Given the description of an element on the screen output the (x, y) to click on. 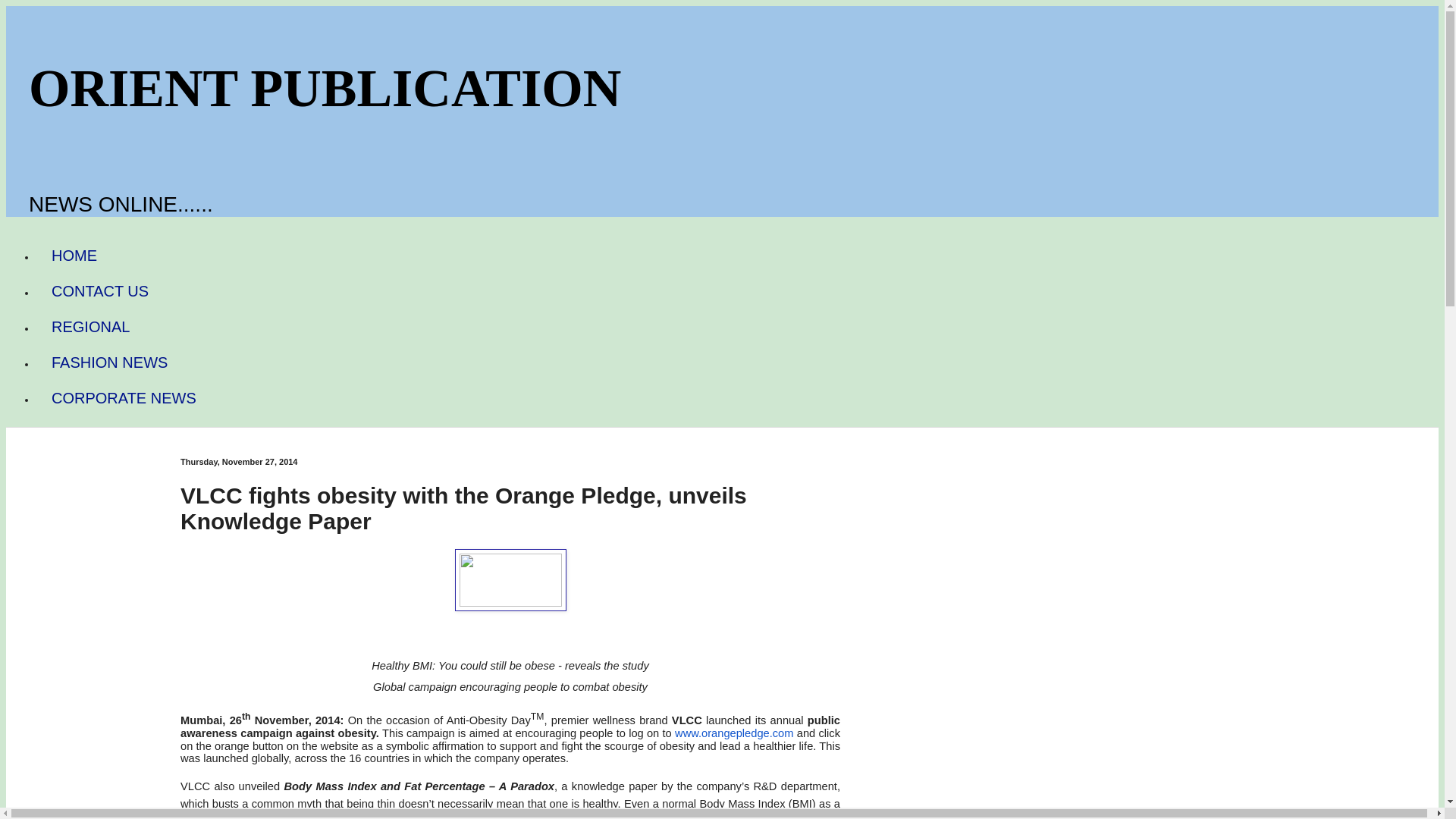
HOME (74, 255)
ORIENT PUBLICATION (325, 87)
www.orangepledge.com (734, 733)
CORPORATE NEWS (123, 398)
CONTACT US (99, 291)
FASHION NEWS (109, 362)
REGIONAL (90, 326)
